Given the description of an element on the screen output the (x, y) to click on. 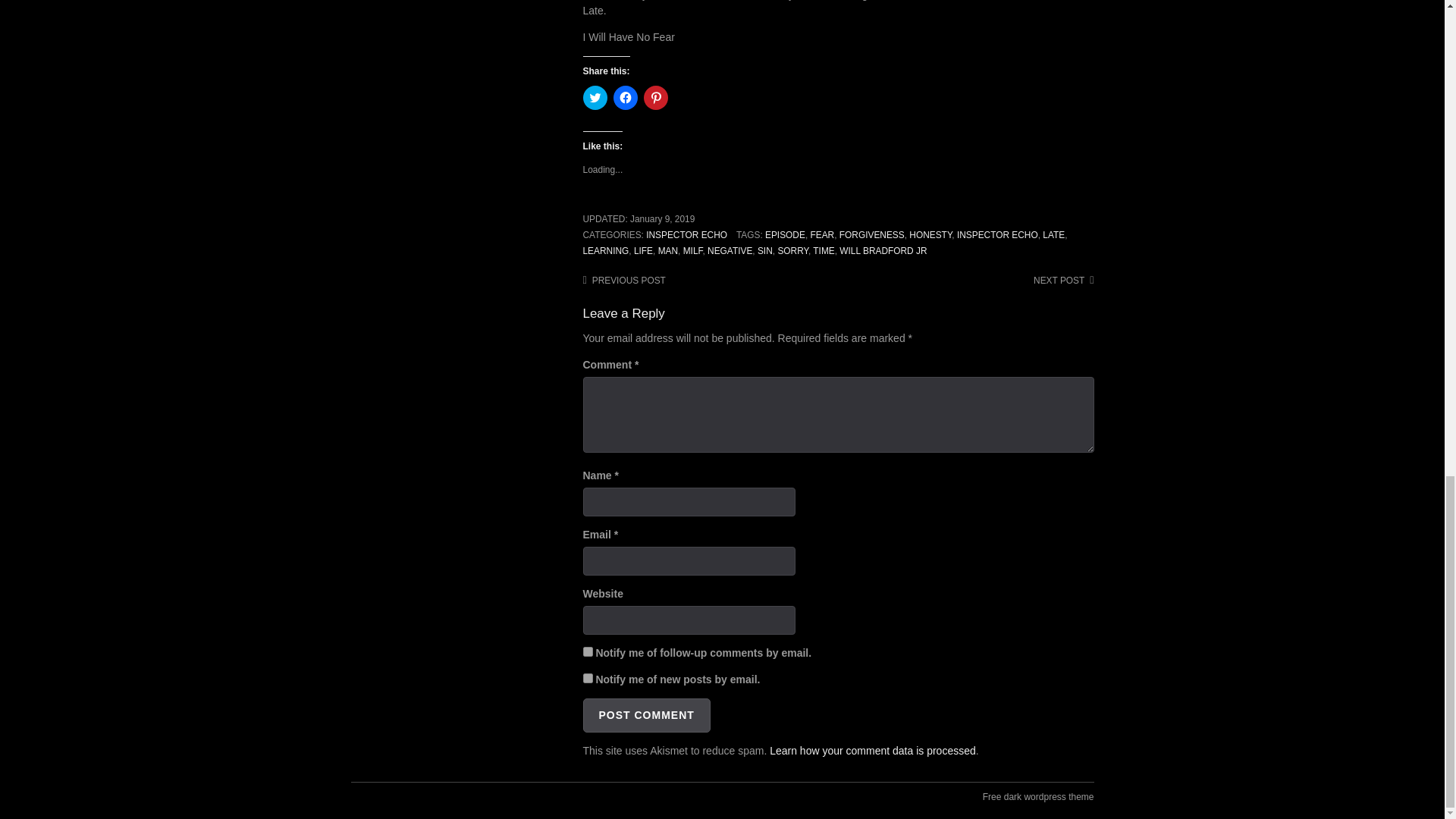
TIME (823, 250)
Click to share on Twitter (594, 97)
FORGIVENESS (872, 235)
INSPECTOR ECHO (997, 235)
LATE (1053, 235)
Post Comment (646, 715)
FEAR (821, 235)
Post Comment (646, 715)
Learn how your comment data is processed (872, 750)
January 9, 2019 (662, 218)
